Given the description of an element on the screen output the (x, y) to click on. 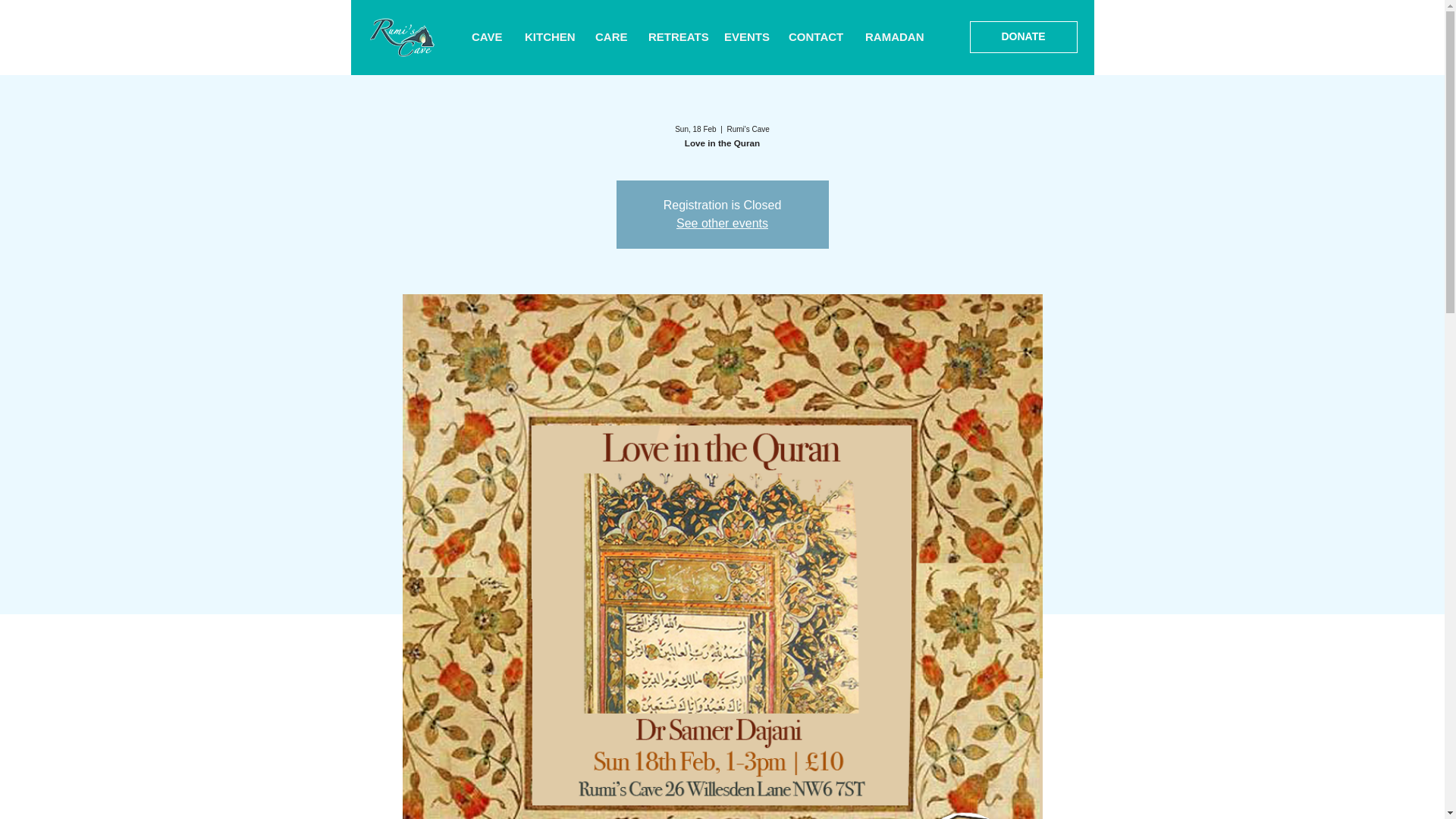
EVENTS (745, 37)
KITCHEN (548, 37)
CONTACT (815, 37)
CARE (610, 37)
RAMADAN (893, 37)
See other events (722, 223)
CAVE (486, 37)
RETREATS (675, 37)
DONATE (1023, 37)
